Given the description of an element on the screen output the (x, y) to click on. 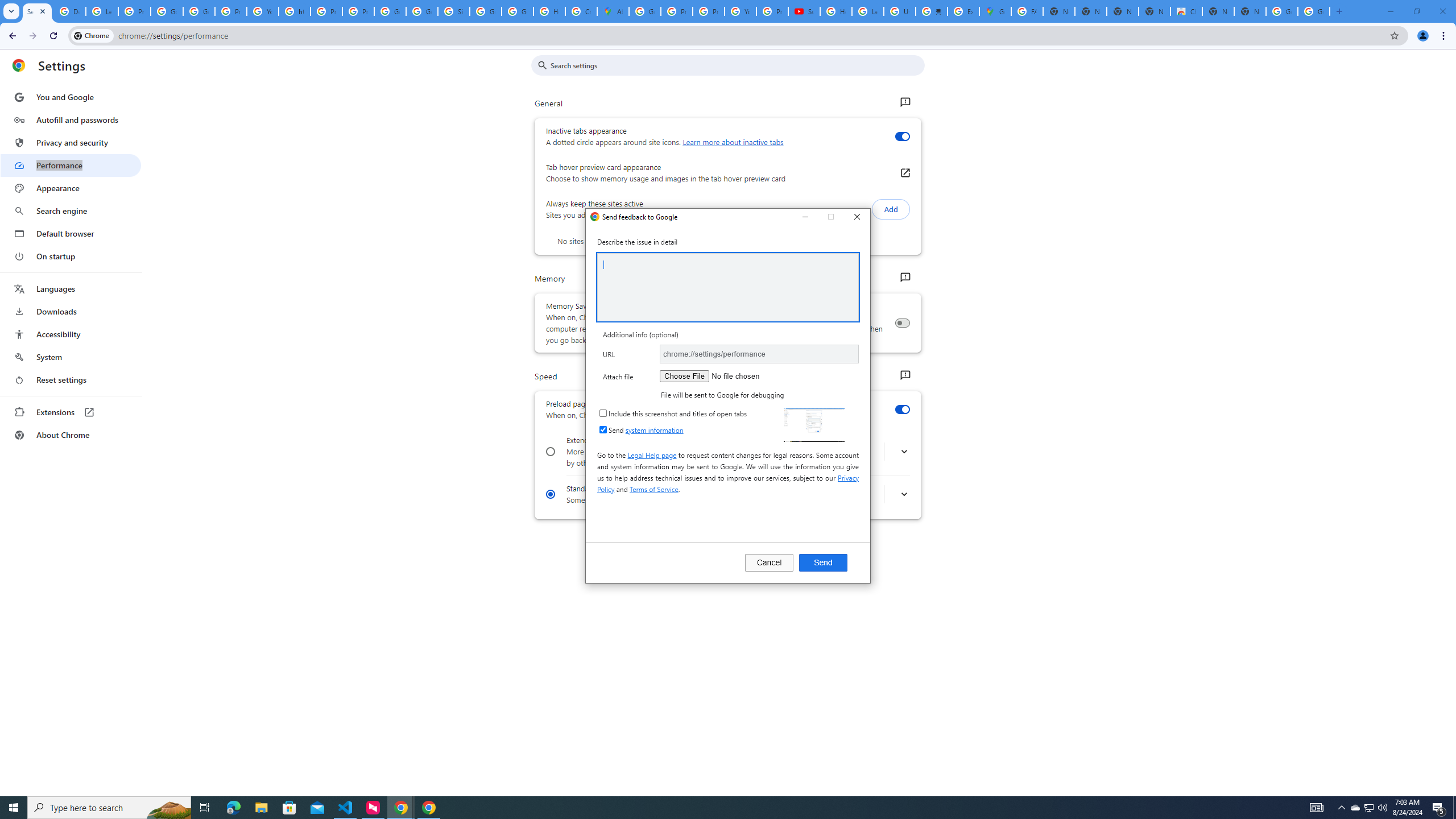
Send (823, 562)
Show desktop (1355, 807)
Screenshot of programs that are currently on the screen (1454, 807)
Google Chrome - 1 running window (813, 424)
Extensions (428, 807)
AutomationID: menu (1368, 807)
Default browser (70, 412)
Search settings (71, 265)
